Given the description of an element on the screen output the (x, y) to click on. 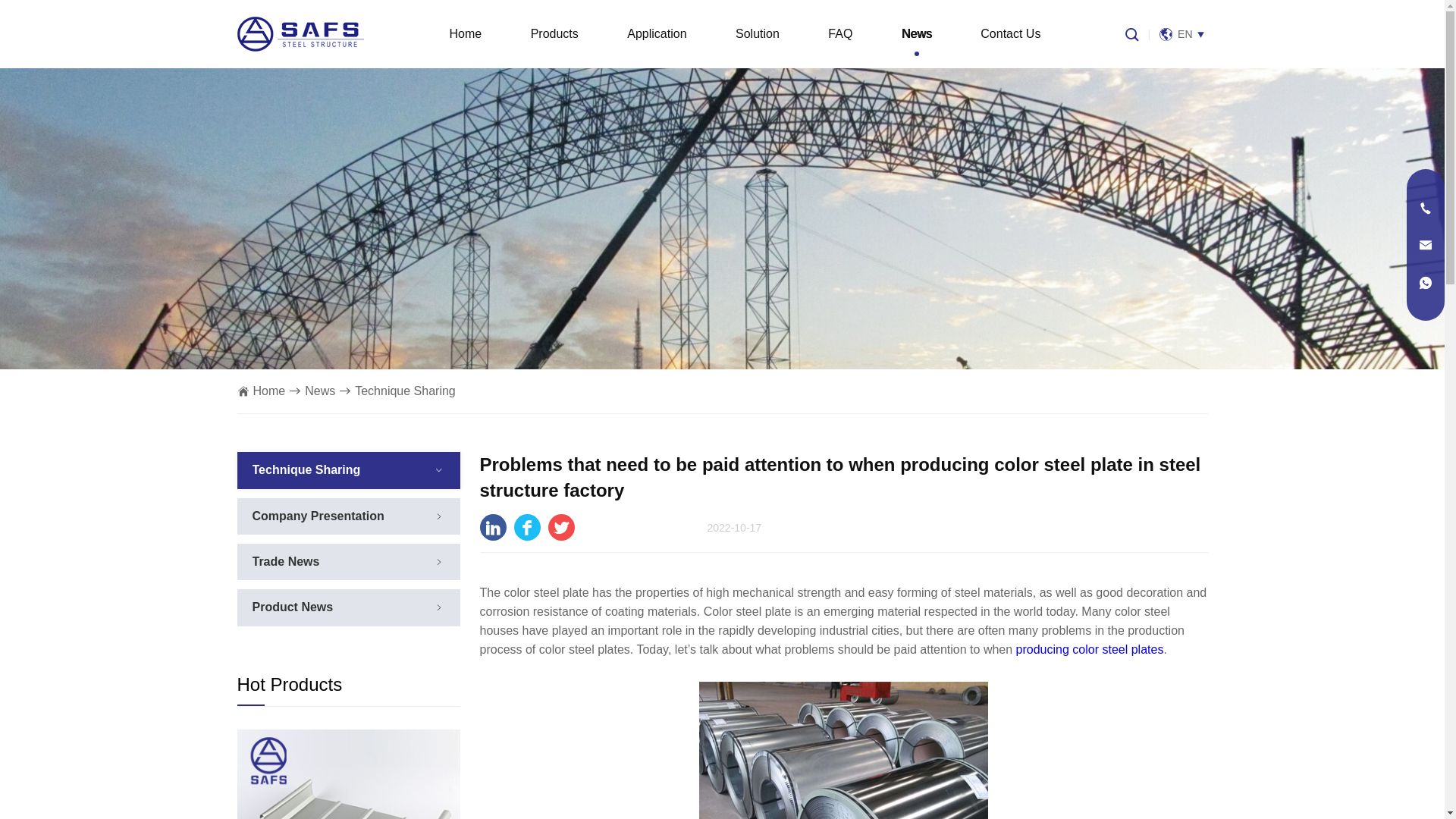
Product News (292, 606)
Contact Us (1010, 33)
News (319, 391)
Company Presentation (317, 515)
Application (656, 33)
Al Mg Mn Alloy Standing Seam Roofing System (347, 774)
Space Frame Structure (298, 33)
Products (554, 33)
Technique Sharing (405, 391)
Technique Sharing (305, 469)
